Given the description of an element on the screen output the (x, y) to click on. 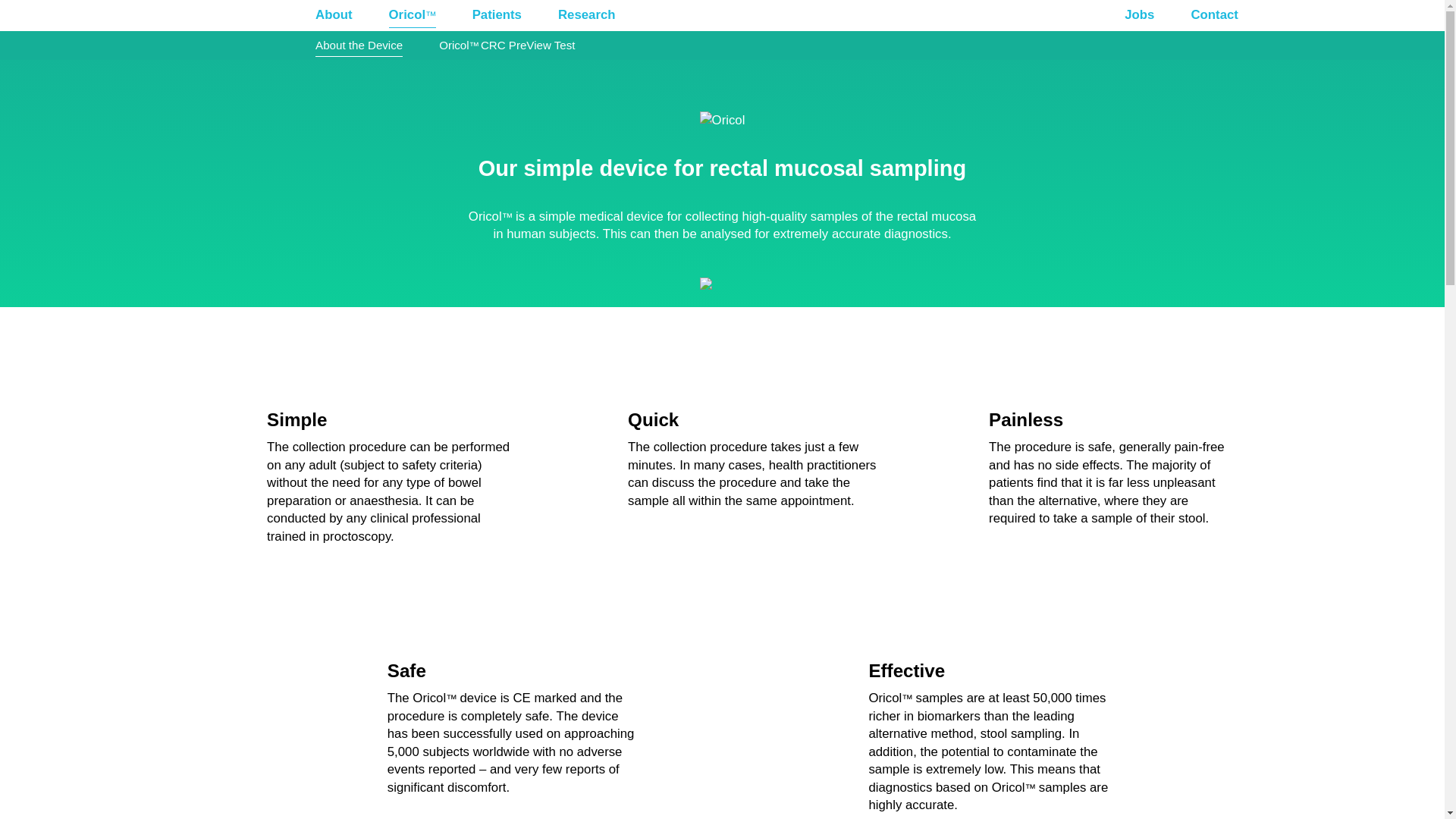
Patients (496, 15)
Contact (1214, 15)
Jobs (1139, 15)
About the Device (358, 45)
Research (586, 15)
About (333, 15)
